Given the description of an element on the screen output the (x, y) to click on. 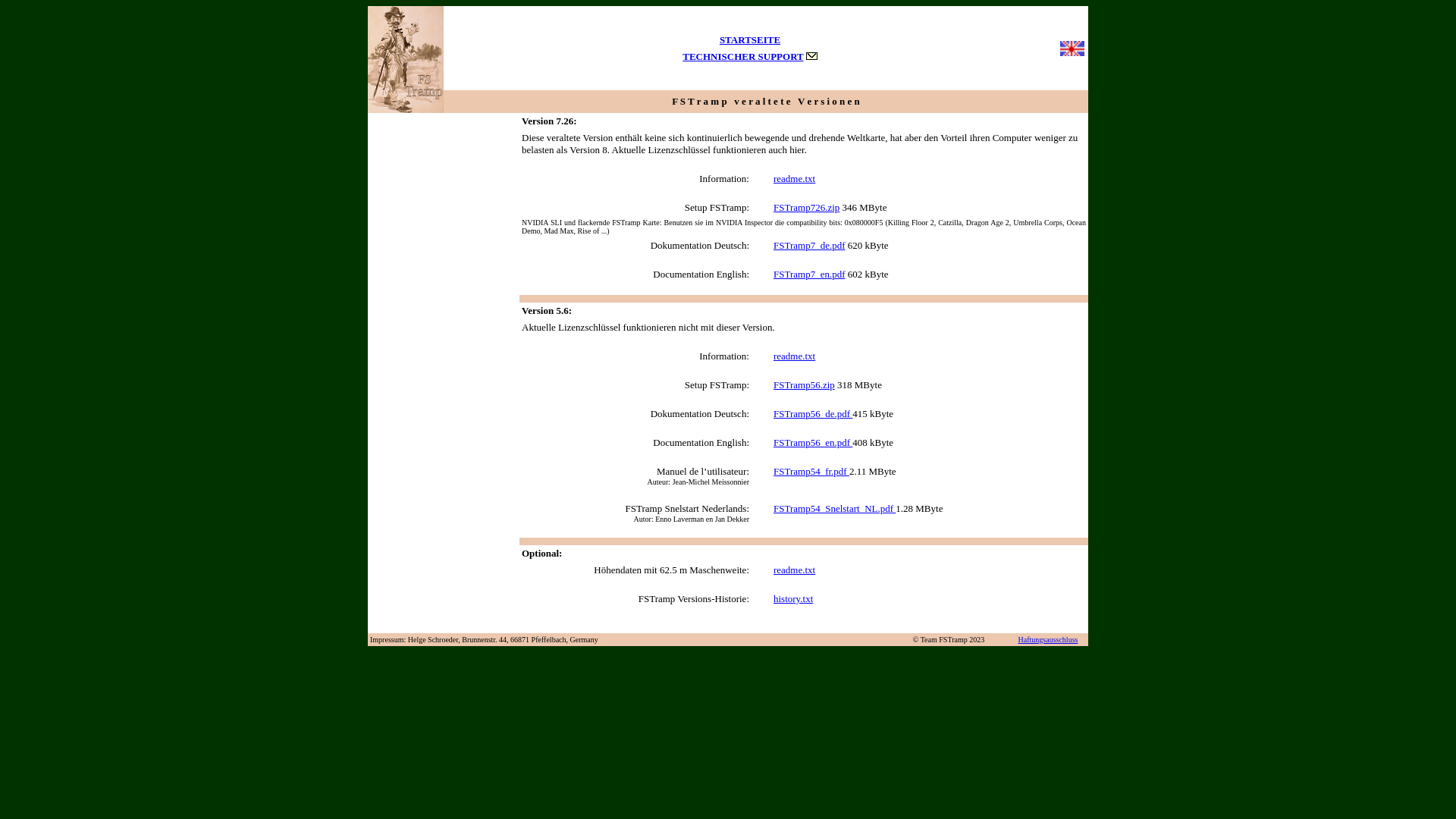
TECHNISCHER SUPPORT Element type: text (742, 55)
FSTramp56_en.pdf Element type: text (812, 442)
STARTSEITE Element type: text (749, 38)
FSTramp7_en.pdf Element type: text (809, 273)
FSTramp726.zip Element type: text (806, 207)
Haftungsausschluss Element type: text (1048, 639)
history.txt Element type: text (792, 598)
readme.txt Element type: text (794, 569)
FSTramp56.zip Element type: text (803, 384)
FSTramp56_de.pdf Element type: text (812, 413)
readme.txt Element type: text (794, 355)
FSTramp54_fr.pdf Element type: text (811, 470)
FSTramp7_de.pdf Element type: text (809, 245)
FSTramp54_Snelstart_NL.pdf Element type: text (834, 508)
readme.txt Element type: text (794, 178)
